Given the description of an element on the screen output the (x, y) to click on. 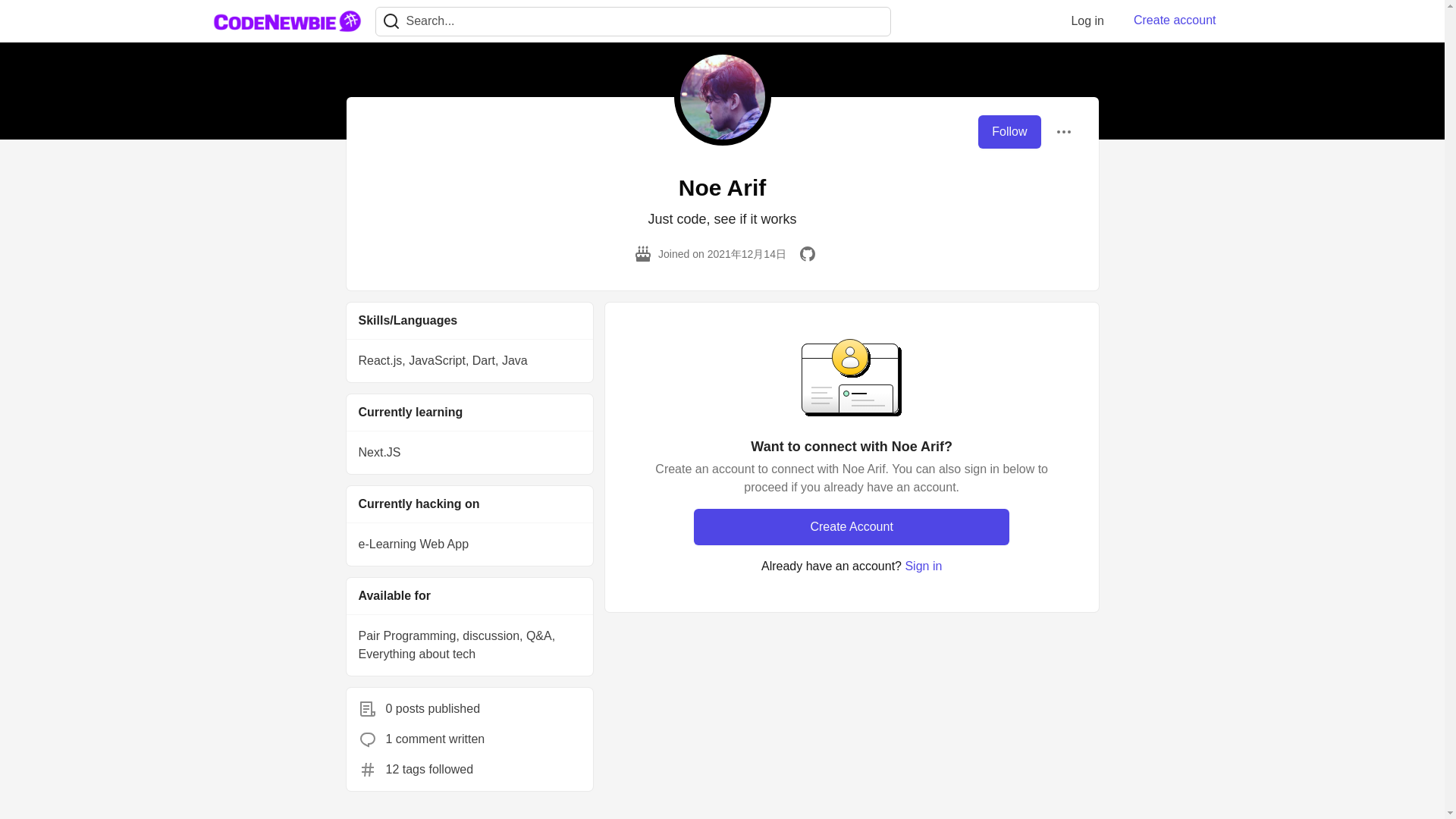
Log in (1087, 20)
Follow (1009, 131)
Create account (1174, 20)
User actions (1063, 131)
Create Account (851, 526)
User actions (1062, 131)
Sign in (923, 565)
